Given the description of an element on the screen output the (x, y) to click on. 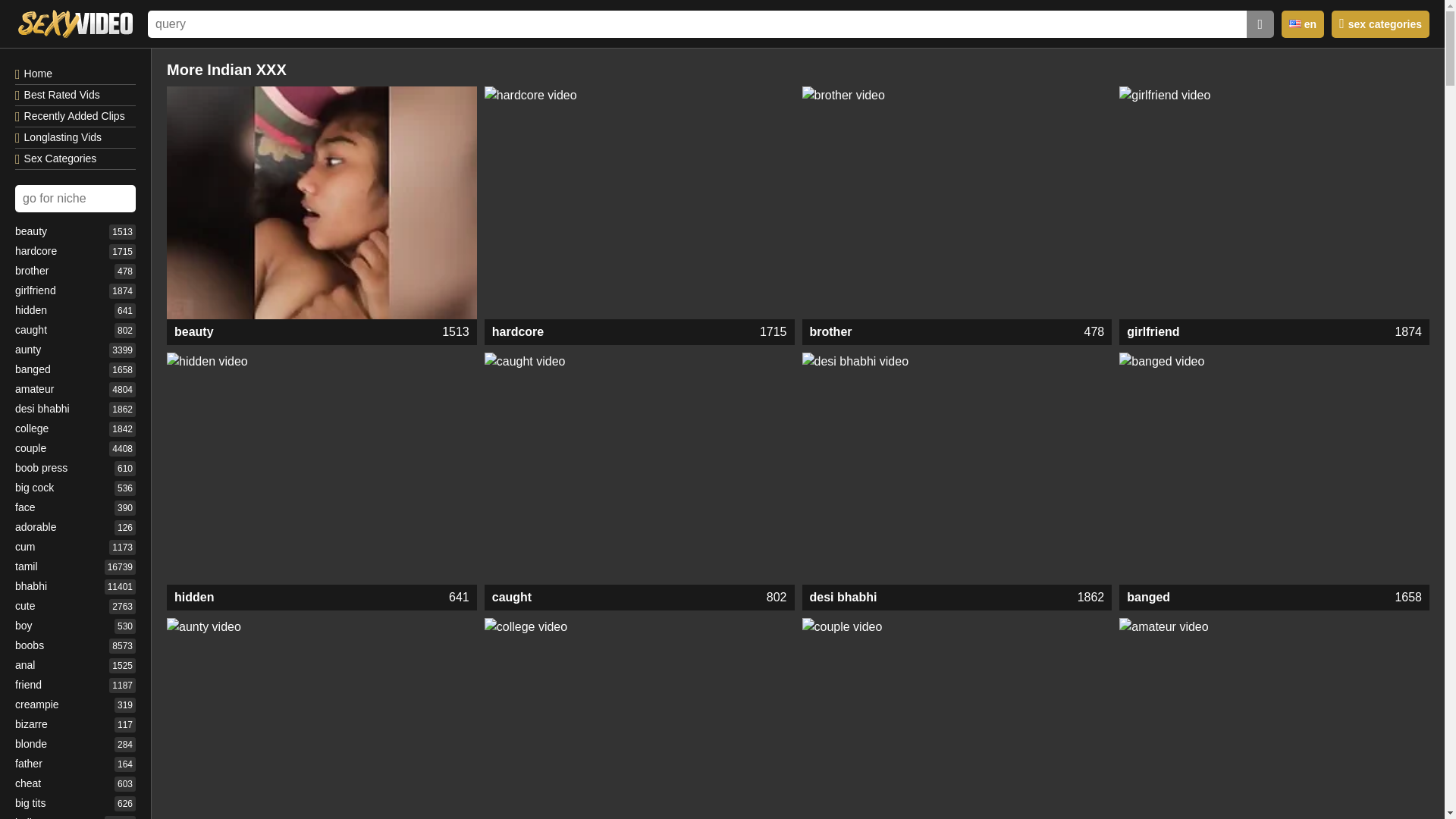
hidden (322, 597)
sex categories (1380, 23)
hidden (322, 468)
girlfriend (1274, 202)
beauty (322, 331)
girlfriend (1274, 331)
caught (322, 331)
aunty (639, 597)
banged (322, 718)
college (1274, 597)
banged (639, 718)
brother (1274, 468)
en (957, 331)
